Given the description of an element on the screen output the (x, y) to click on. 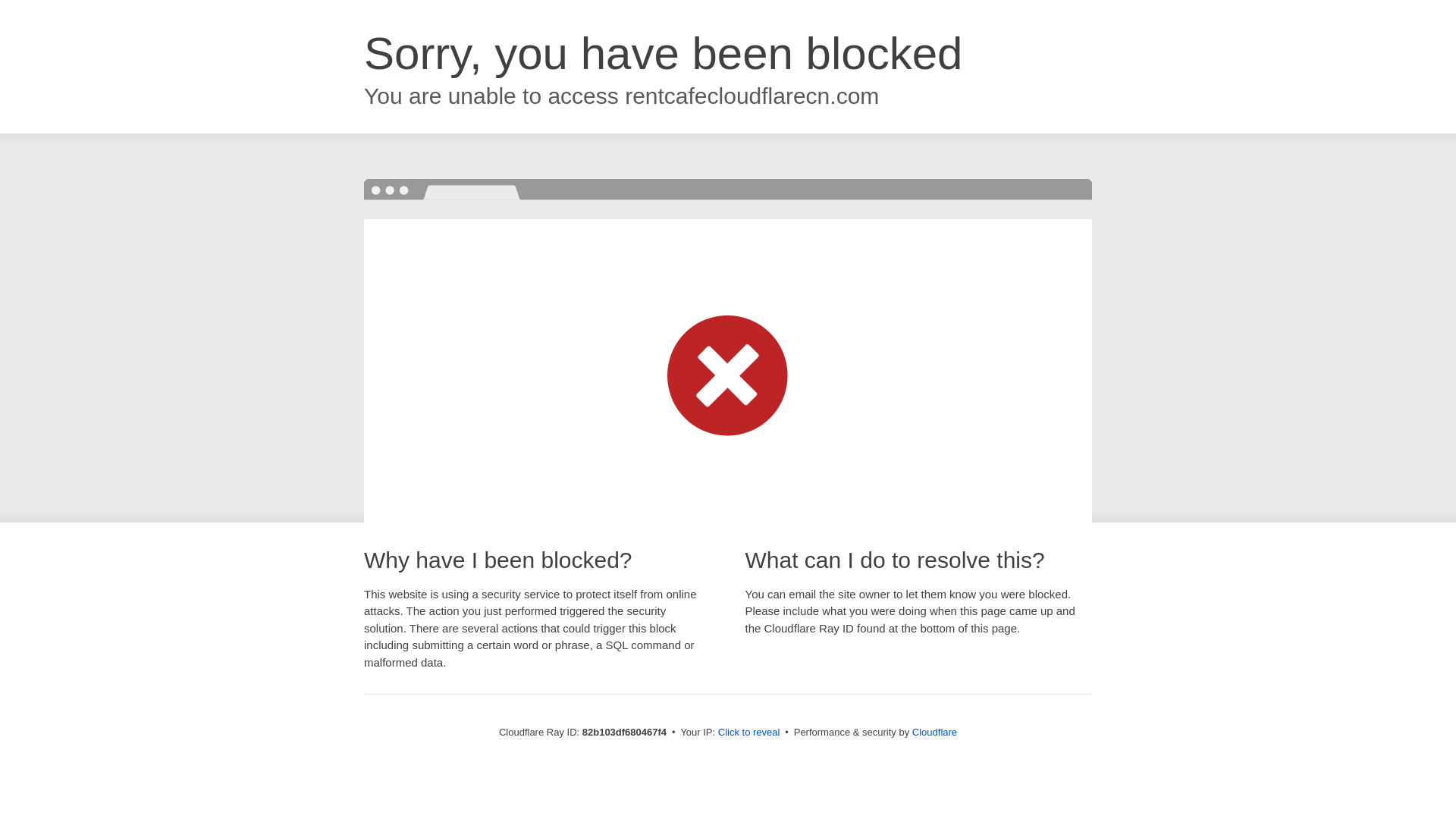
Click to reveal Element type: text (749, 732)
Cloudflare Element type: text (934, 731)
